Given the description of an element on the screen output the (x, y) to click on. 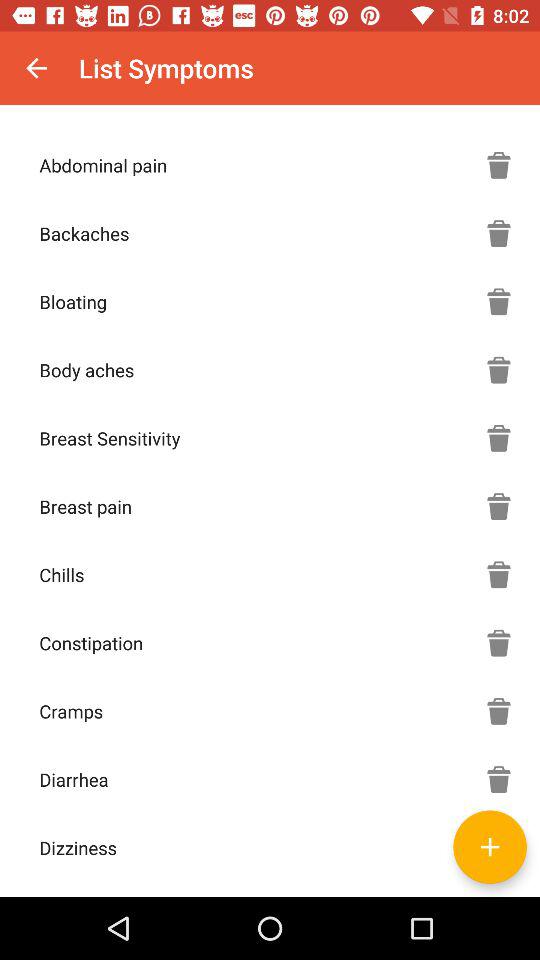
delete (499, 643)
